Given the description of an element on the screen output the (x, y) to click on. 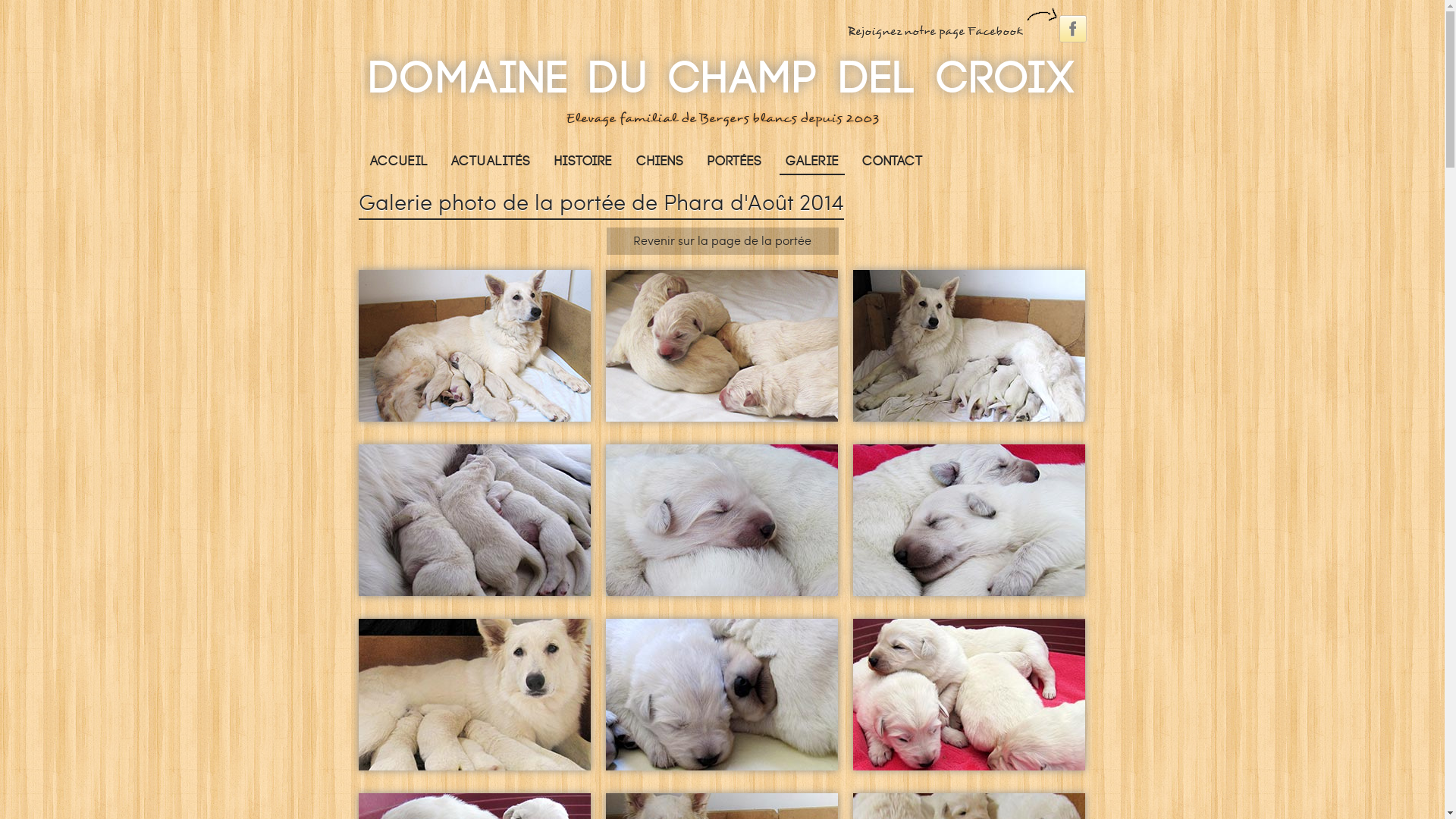
Chiens Element type: text (660, 160)
Contact Element type: text (892, 160)
Accueil Element type: text (398, 160)
Histoire Element type: text (583, 160)
Domaine Du Champ Del Croix Element type: text (721, 78)
Galerie Element type: text (811, 161)
